Given the description of an element on the screen output the (x, y) to click on. 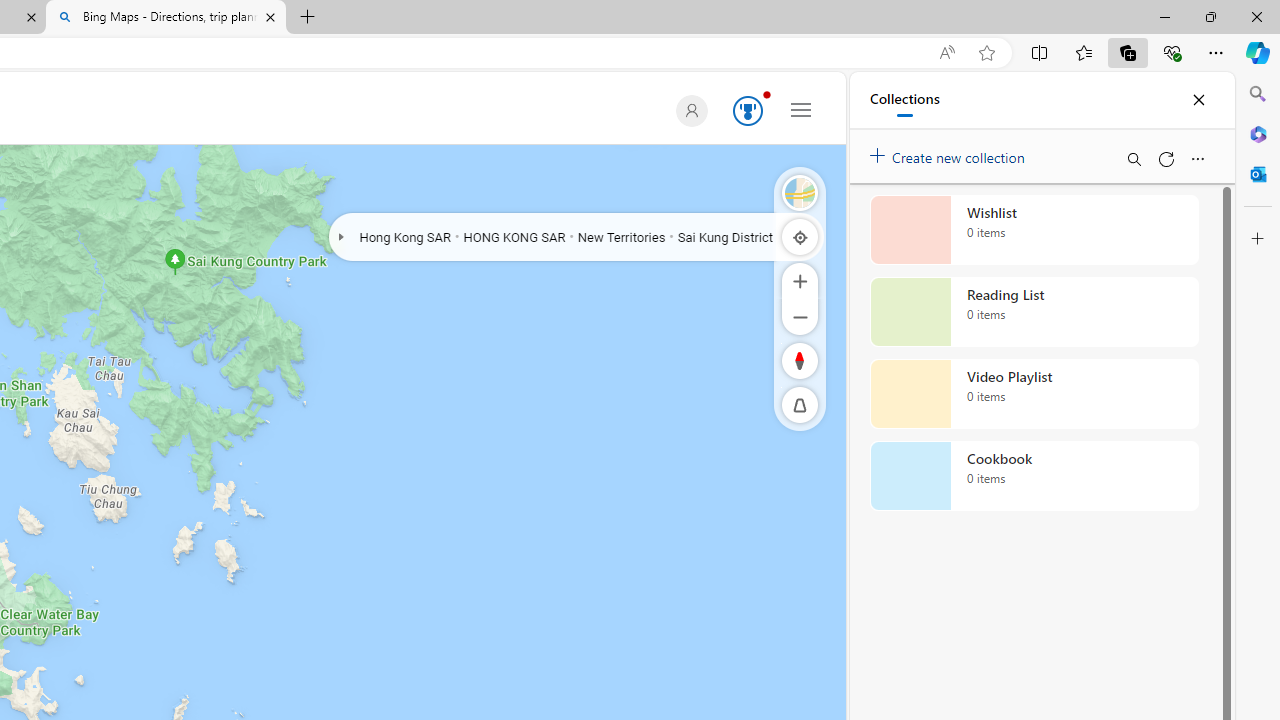
Zoom In (799, 280)
